Given the description of an element on the screen output the (x, y) to click on. 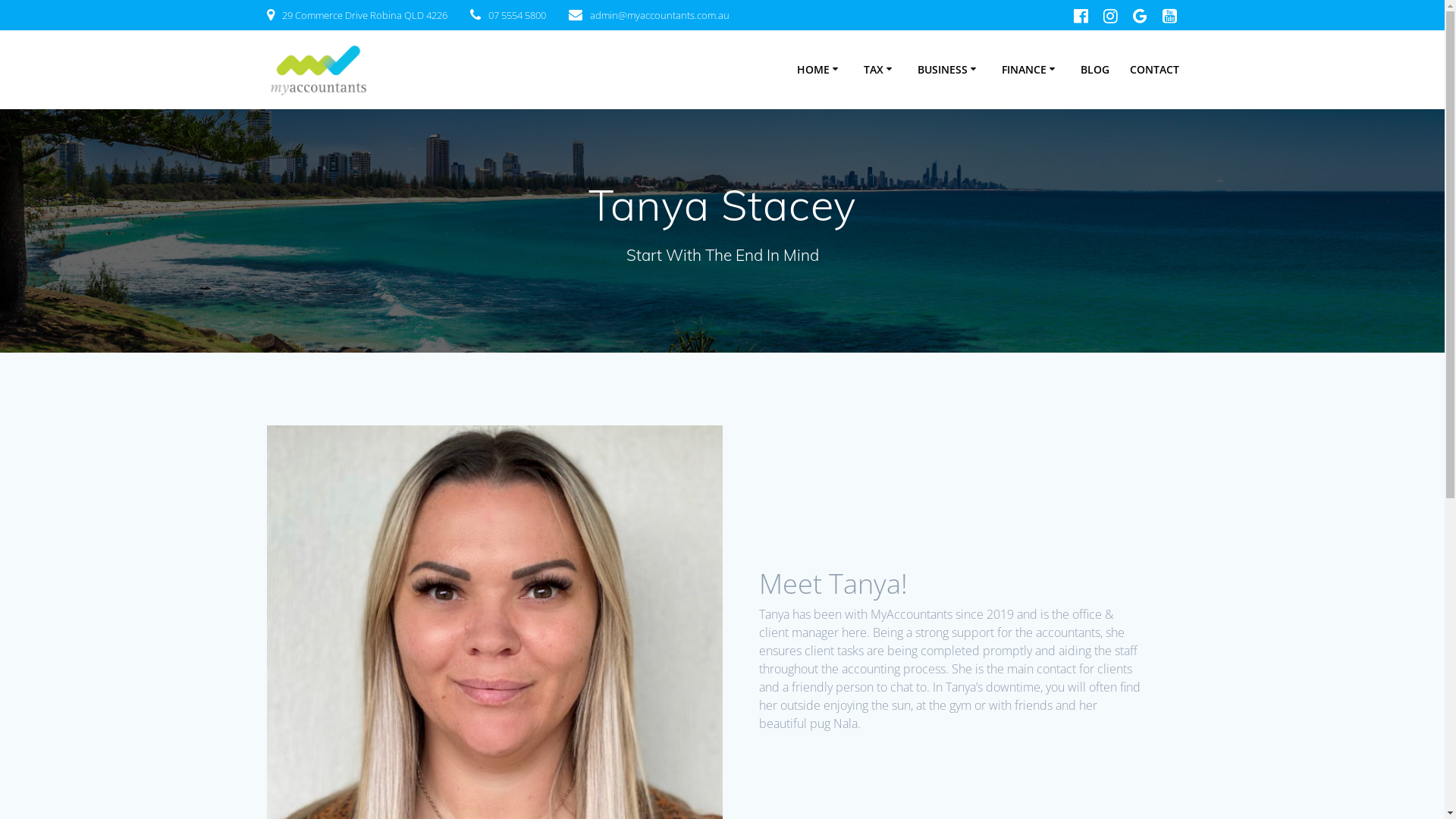
BUSINESS Element type: text (949, 69)
HOME Element type: text (820, 69)
CONTACT Element type: text (1154, 69)
TAX Element type: text (880, 69)
BLOG Element type: text (1094, 69)
FINANCE Element type: text (1030, 69)
